Given the description of an element on the screen output the (x, y) to click on. 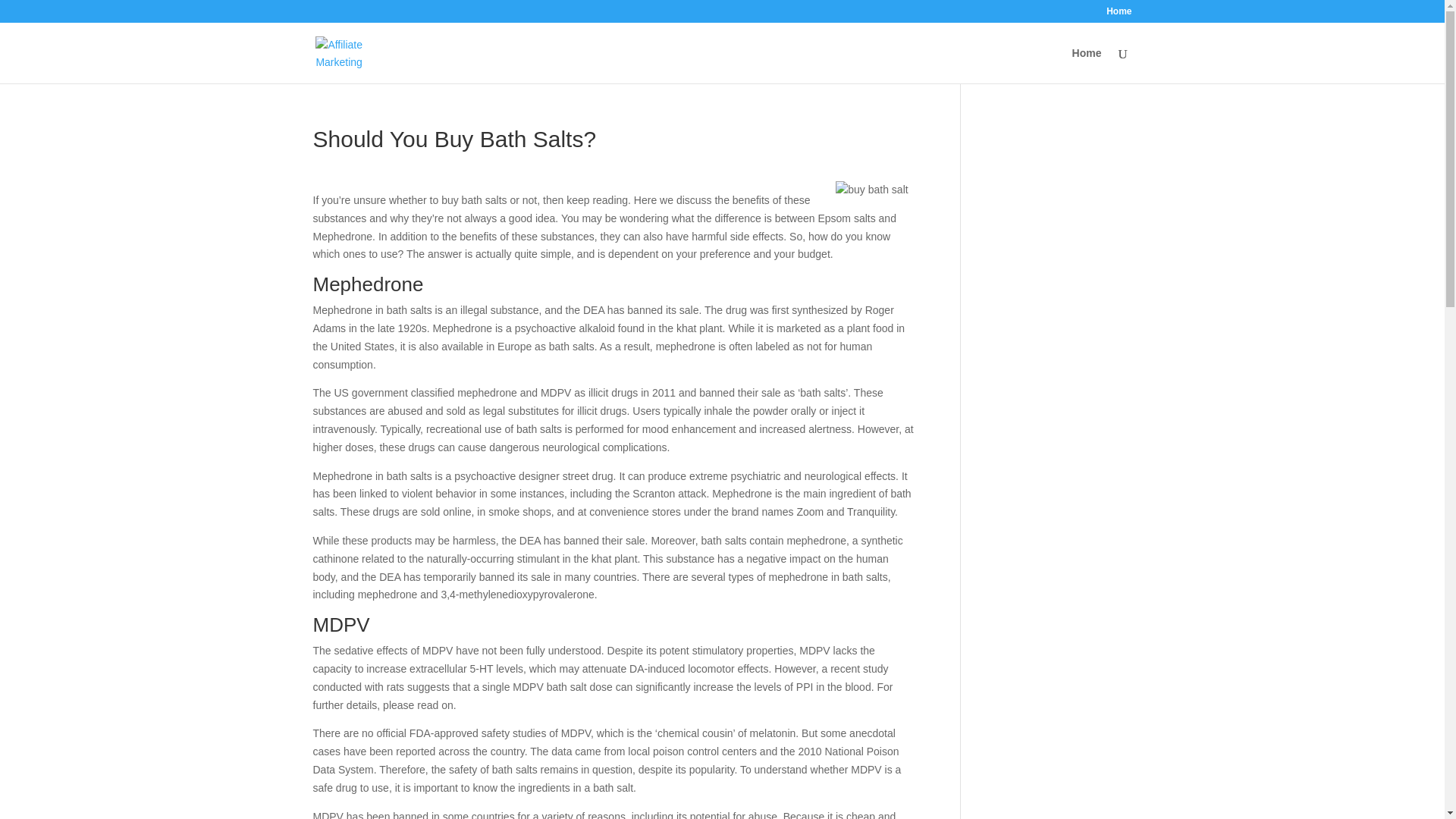
Home (1086, 65)
Home (1118, 14)
